Given the description of an element on the screen output the (x, y) to click on. 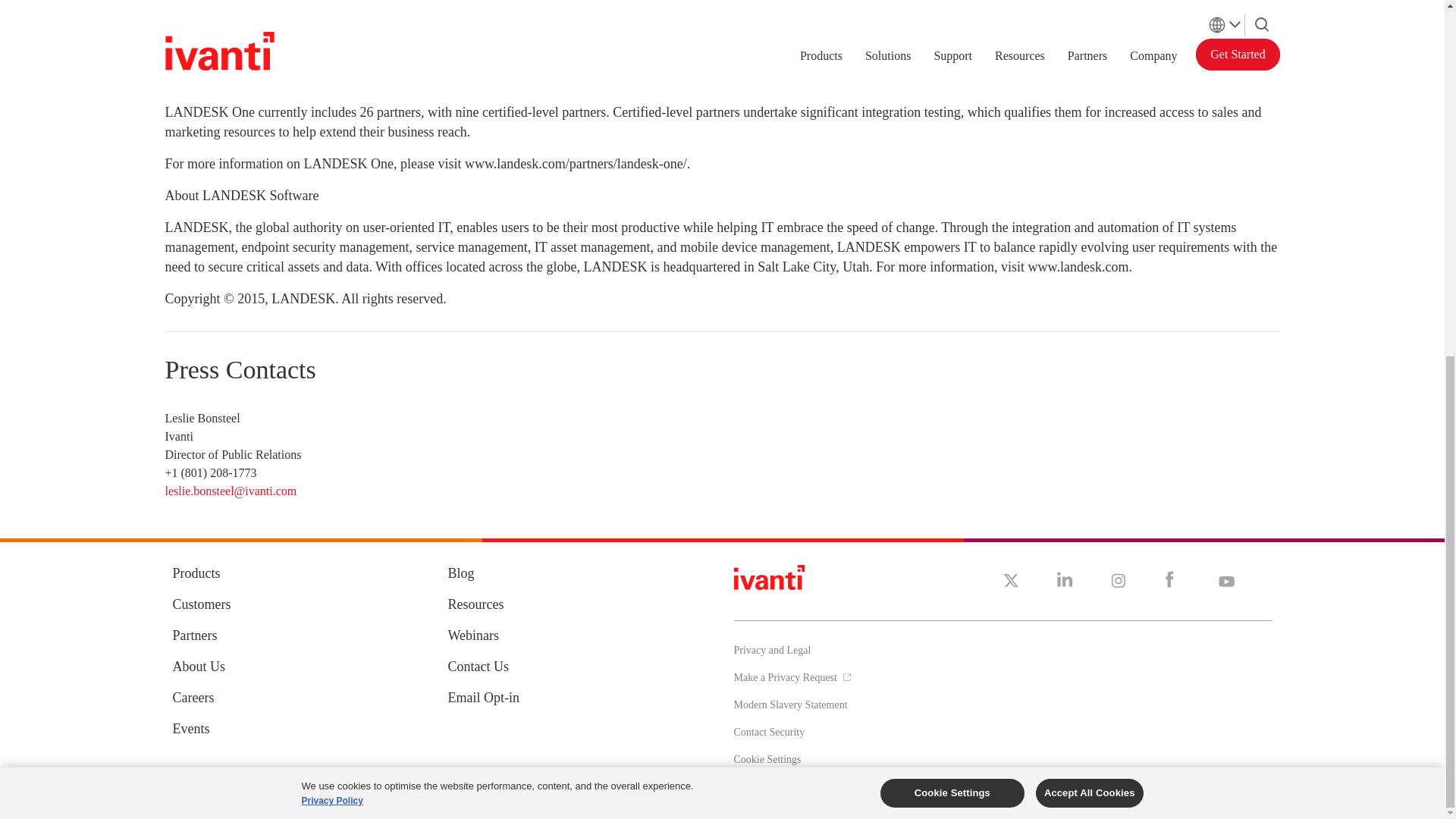
LinkedIn (1065, 579)
Instagram (1117, 579)
YouTube (1225, 578)
Twitter (1010, 579)
